Given the description of an element on the screen output the (x, y) to click on. 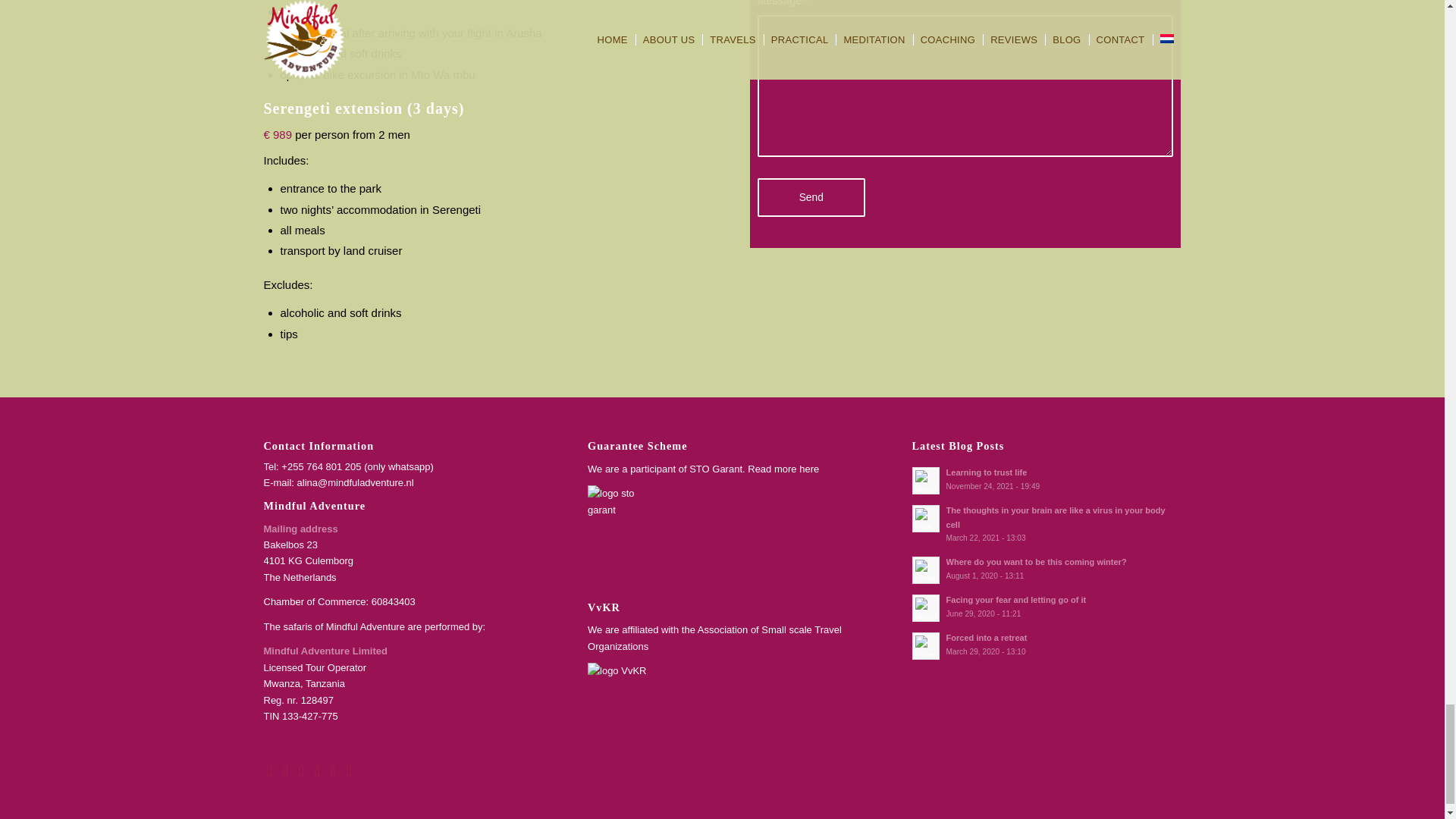
Send (810, 197)
